Given the description of an element on the screen output the (x, y) to click on. 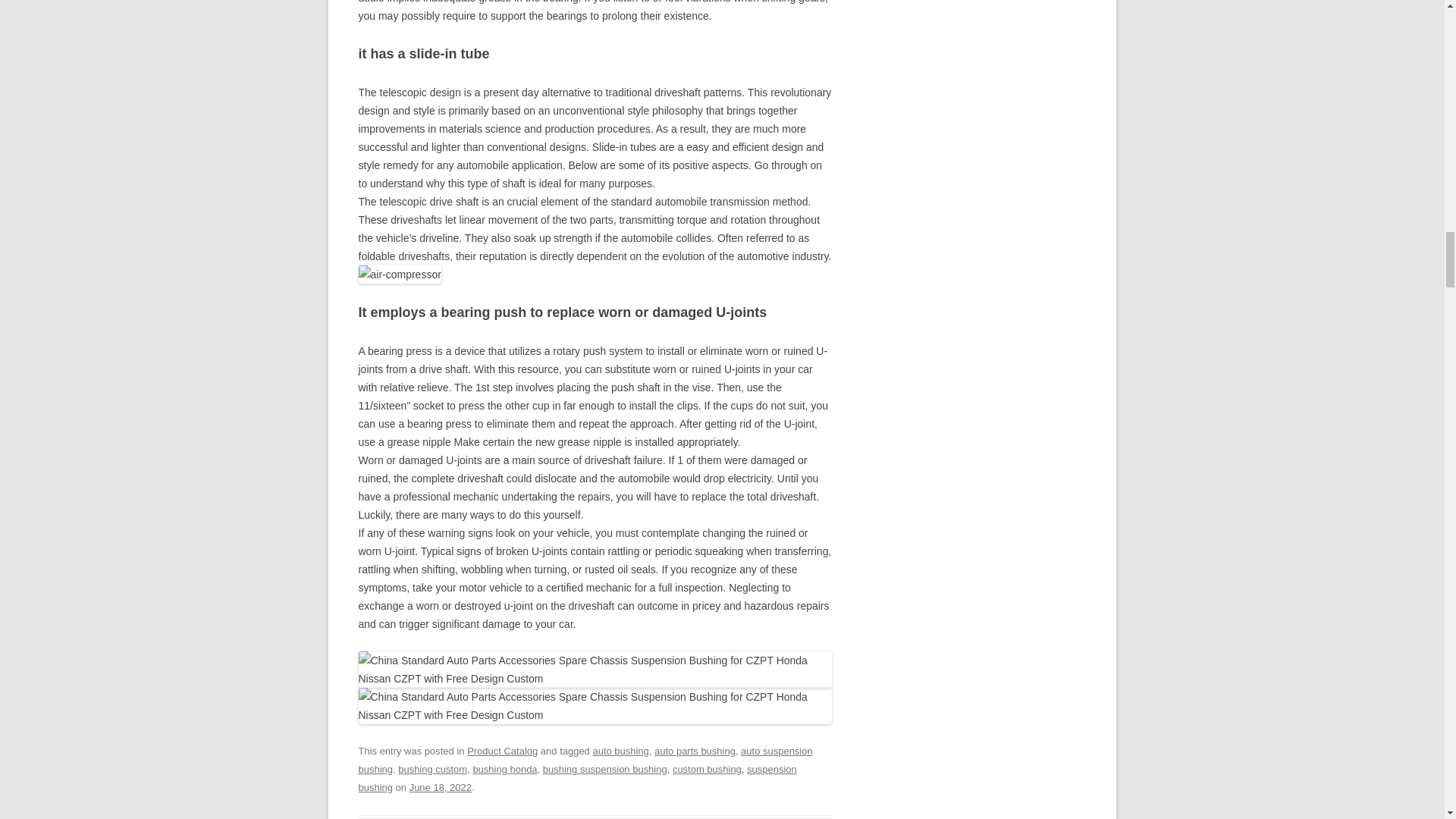
auto suspension bushing (585, 759)
bushing suspension bushing (604, 768)
auto parts bushing (694, 750)
Product Catalog (502, 750)
suspension bushing (577, 778)
11:17 am (440, 787)
bushing honda (504, 768)
auto bushing (619, 750)
June 18, 2022 (440, 787)
bushing custom (432, 768)
custom bushing (706, 768)
